Given the description of an element on the screen output the (x, y) to click on. 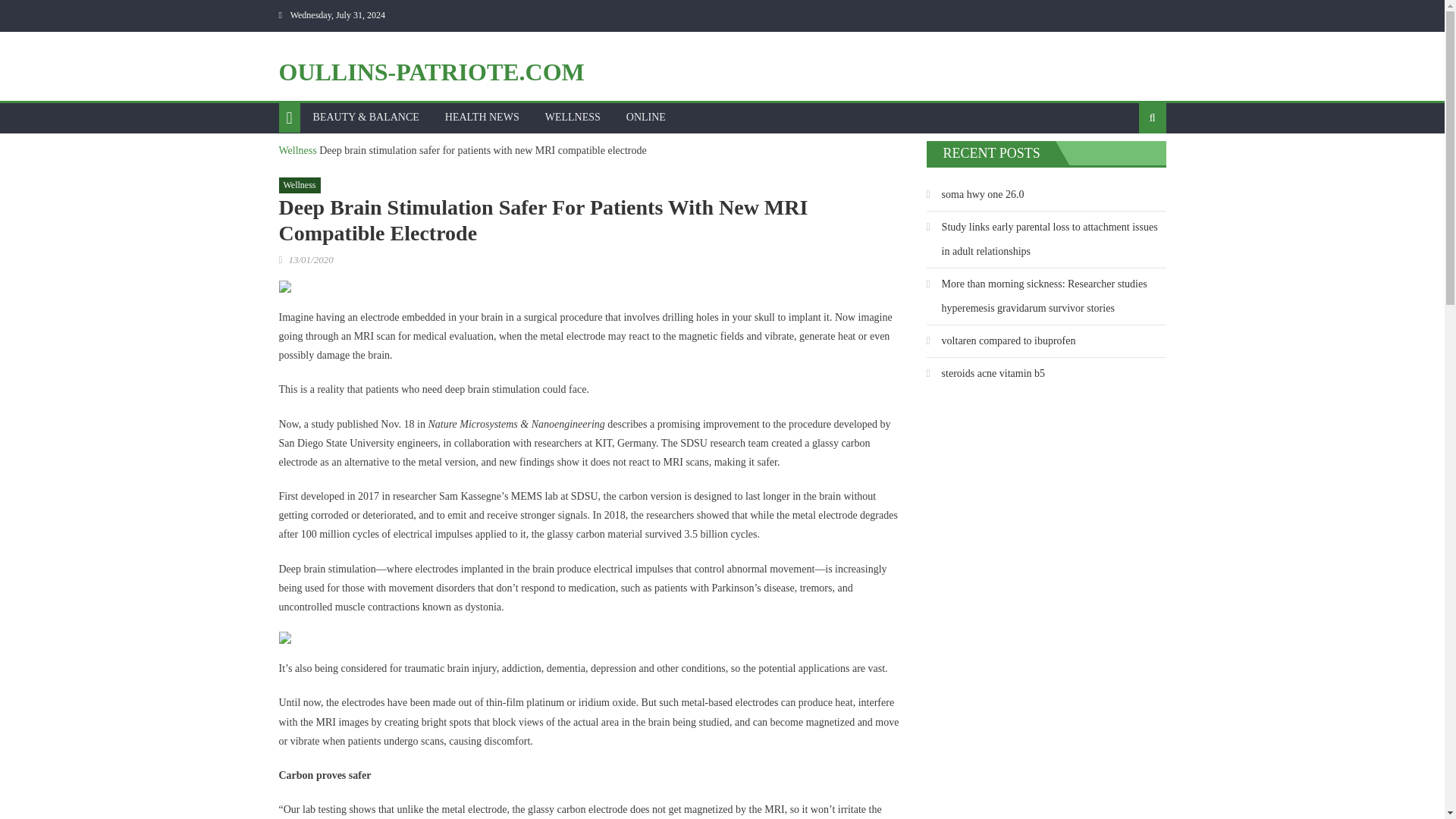
OULLINS-PATRIOTE.COM (432, 71)
Wellness (299, 185)
Wellness (298, 150)
ONLINE (645, 117)
WELLNESS (572, 117)
Search (1128, 166)
HEALTH NEWS (482, 117)
